Given the description of an element on the screen output the (x, y) to click on. 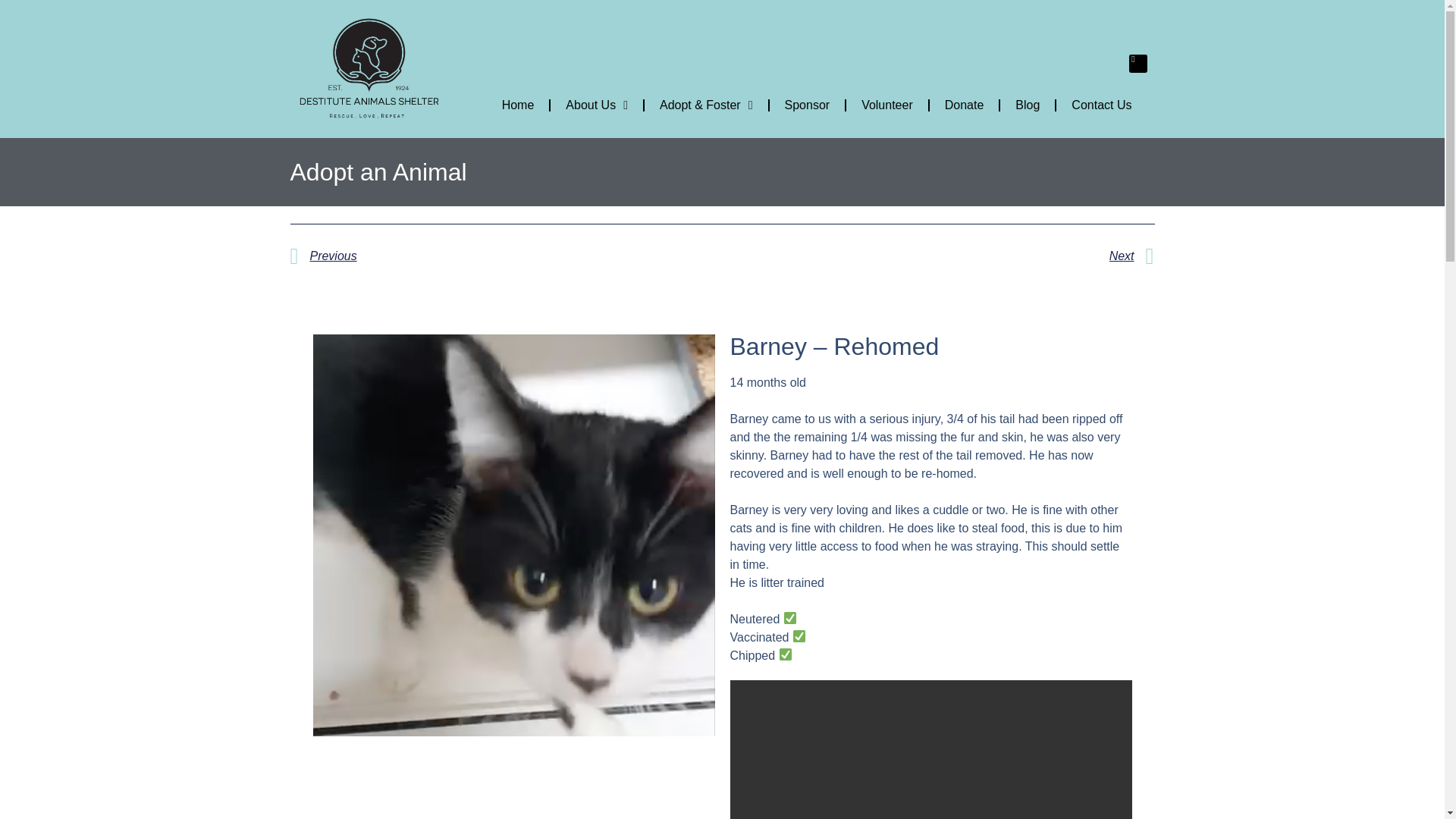
Blog (1027, 104)
Donate (964, 104)
Volunteer (886, 104)
About Us (596, 104)
Contact Us (1102, 104)
Sponsor (807, 104)
Home (518, 104)
